Given the description of an element on the screen output the (x, y) to click on. 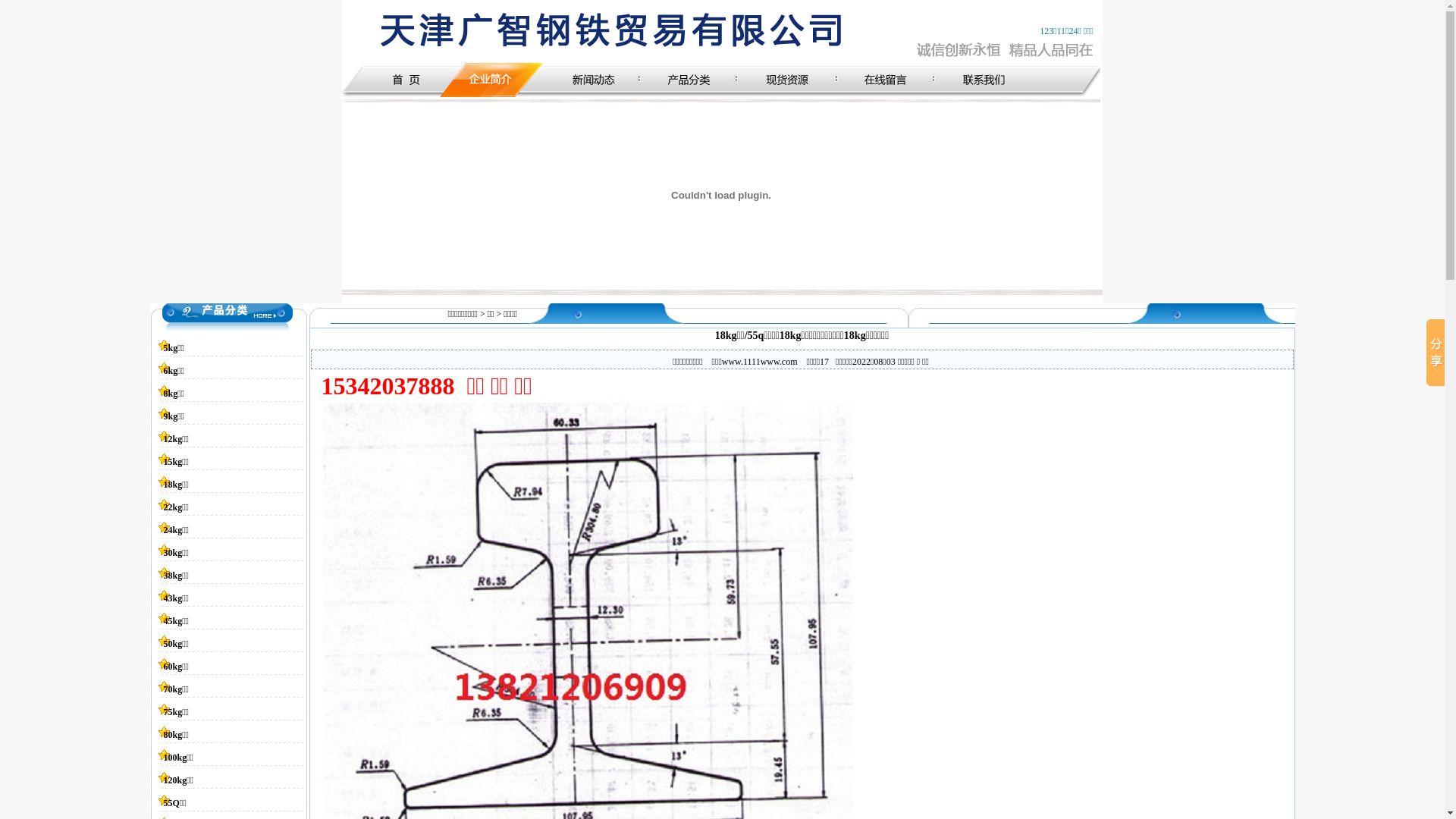
www.1111www.com Element type: text (759, 361)
